Given the description of an element on the screen output the (x, y) to click on. 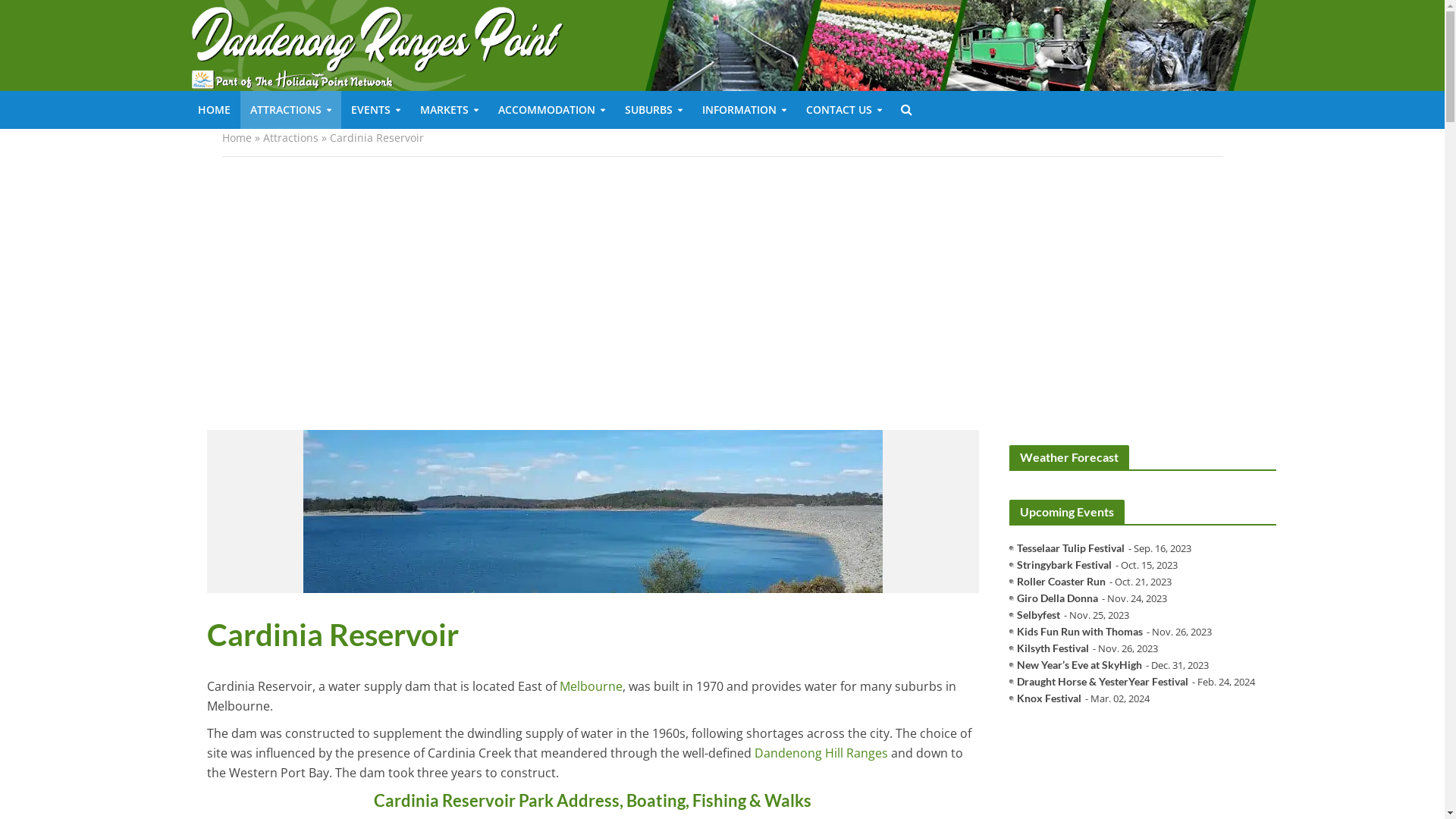
SUBURBS Element type: text (652, 109)
Roller Coaster Run Element type: text (1060, 581)
Advertisement Element type: hover (721, 293)
Kids Fun Run with Thomas Element type: text (1079, 631)
ATTRACTIONS Element type: text (289, 109)
MARKETS Element type: text (448, 109)
Selbyfest Element type: text (1038, 614)
Draught Horse & YesterYear Festival Element type: text (1102, 681)
Knox Festival Element type: text (1048, 698)
Attractions Element type: text (289, 137)
Kilsyth Festival Element type: text (1052, 647)
Stringybark Festival Element type: text (1063, 564)
CONTACT US Element type: text (843, 109)
ACCOMMODATION Element type: text (551, 109)
Dandenong Hill Ranges Element type: text (820, 754)
Melbourne Element type: text (590, 687)
INFORMATION Element type: text (743, 109)
Giro Della Donna Element type: text (1057, 597)
Home Element type: text (236, 137)
HOME Element type: text (214, 109)
EVENTS Element type: text (375, 109)
Tesselaar Tulip Festival Element type: text (1070, 547)
